Given the description of an element on the screen output the (x, y) to click on. 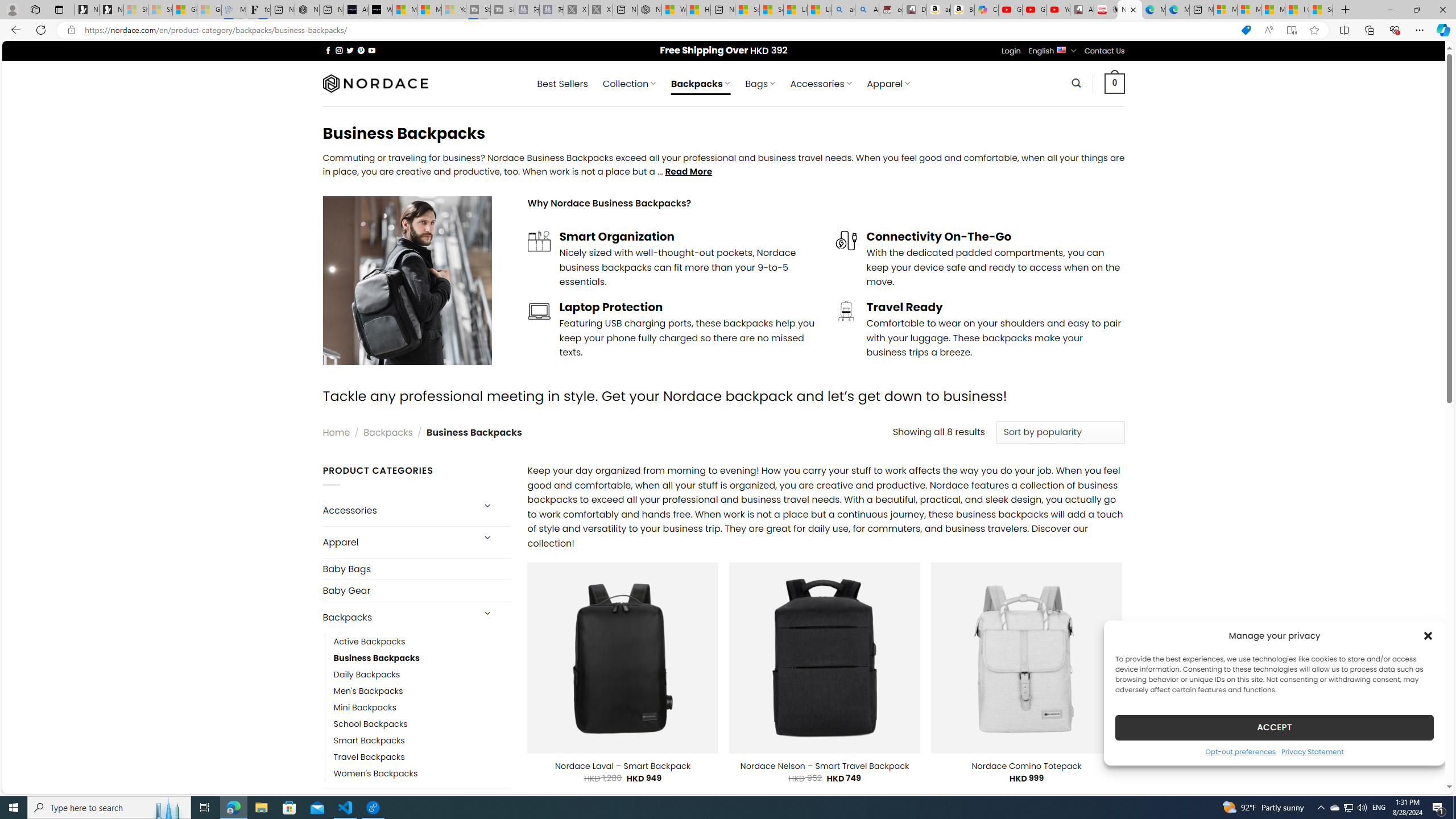
Daily Backpacks (422, 674)
Nordace - Business Backpacks (1129, 9)
Apparel (397, 542)
 Best Sellers (562, 83)
Mini Backpacks (364, 706)
Bags (397, 803)
Read More (688, 171)
Business Backpacks (376, 657)
